Given the description of an element on the screen output the (x, y) to click on. 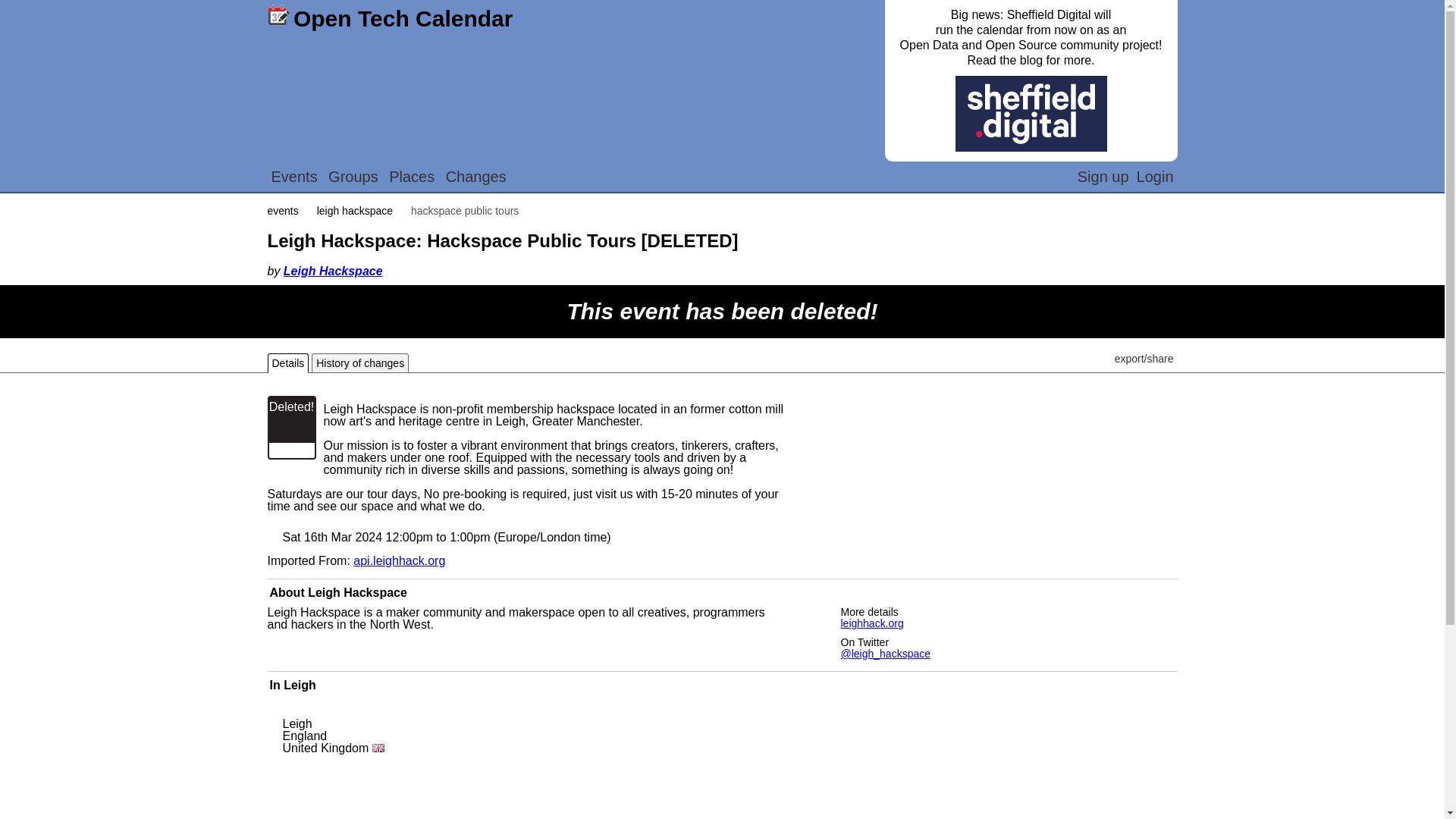
History of changes (359, 363)
Leigh Hackspace (332, 270)
Leigh (299, 684)
api.leighhack.org (399, 560)
Groups (352, 176)
leighhack.org (871, 623)
United Kingdom (333, 748)
Login (1154, 176)
Sign up (1103, 176)
Details (287, 363)
events (283, 210)
Changes (476, 176)
Open Tech Calendar (391, 17)
England (304, 735)
